Given the description of an element on the screen output the (x, y) to click on. 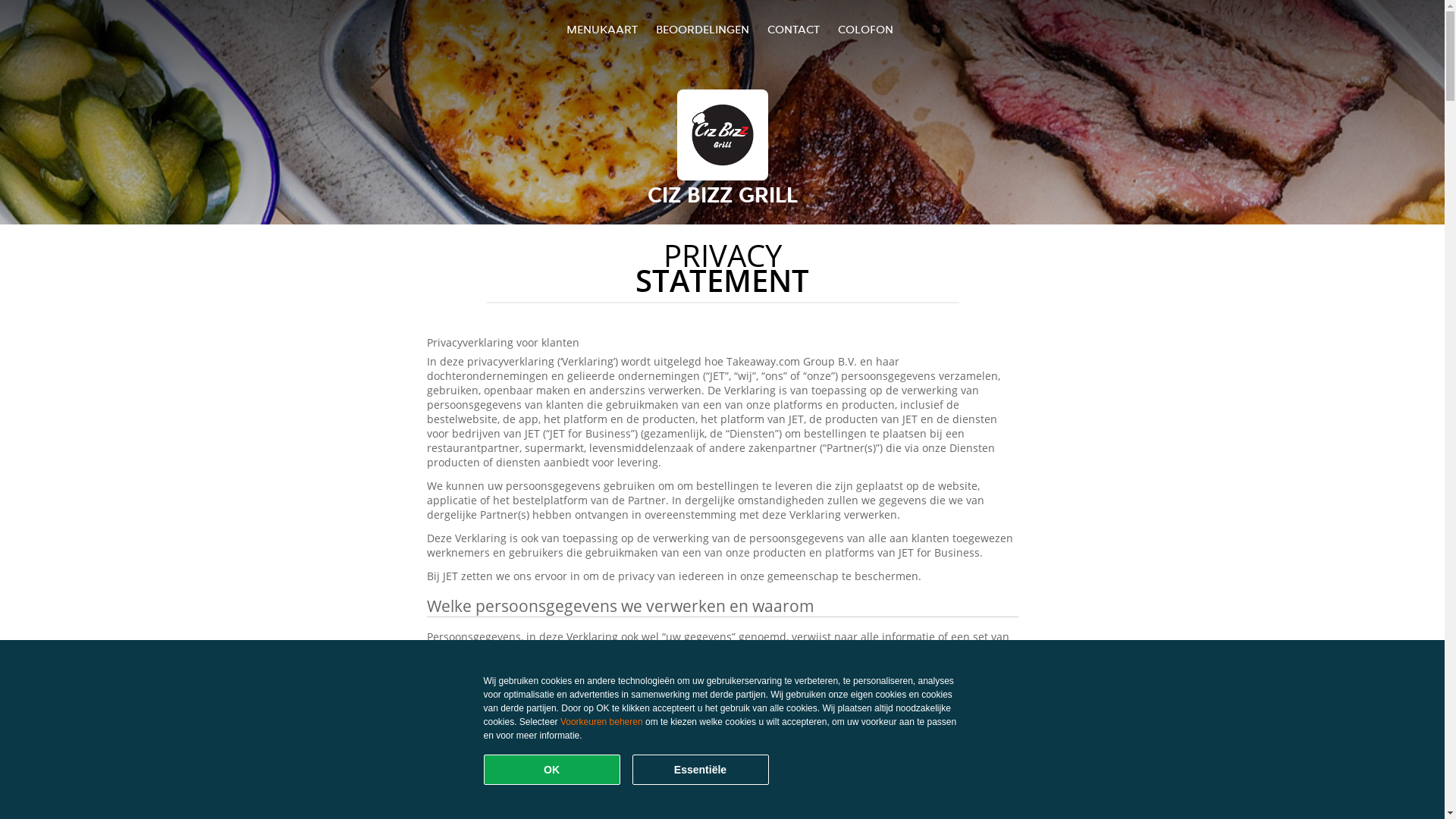
CONTACT Element type: text (793, 29)
OK Element type: text (551, 769)
MENUKAART Element type: text (601, 29)
BEOORDELINGEN Element type: text (702, 29)
Voorkeuren beheren Element type: text (601, 721)
COLOFON Element type: text (865, 29)
